Given the description of an element on the screen output the (x, y) to click on. 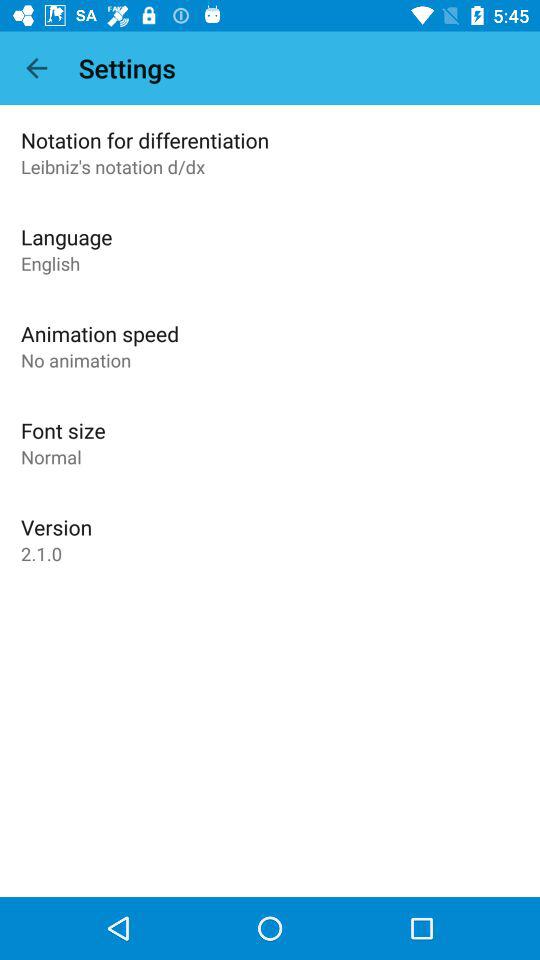
scroll until leibniz s notation icon (113, 166)
